Given the description of an element on the screen output the (x, y) to click on. 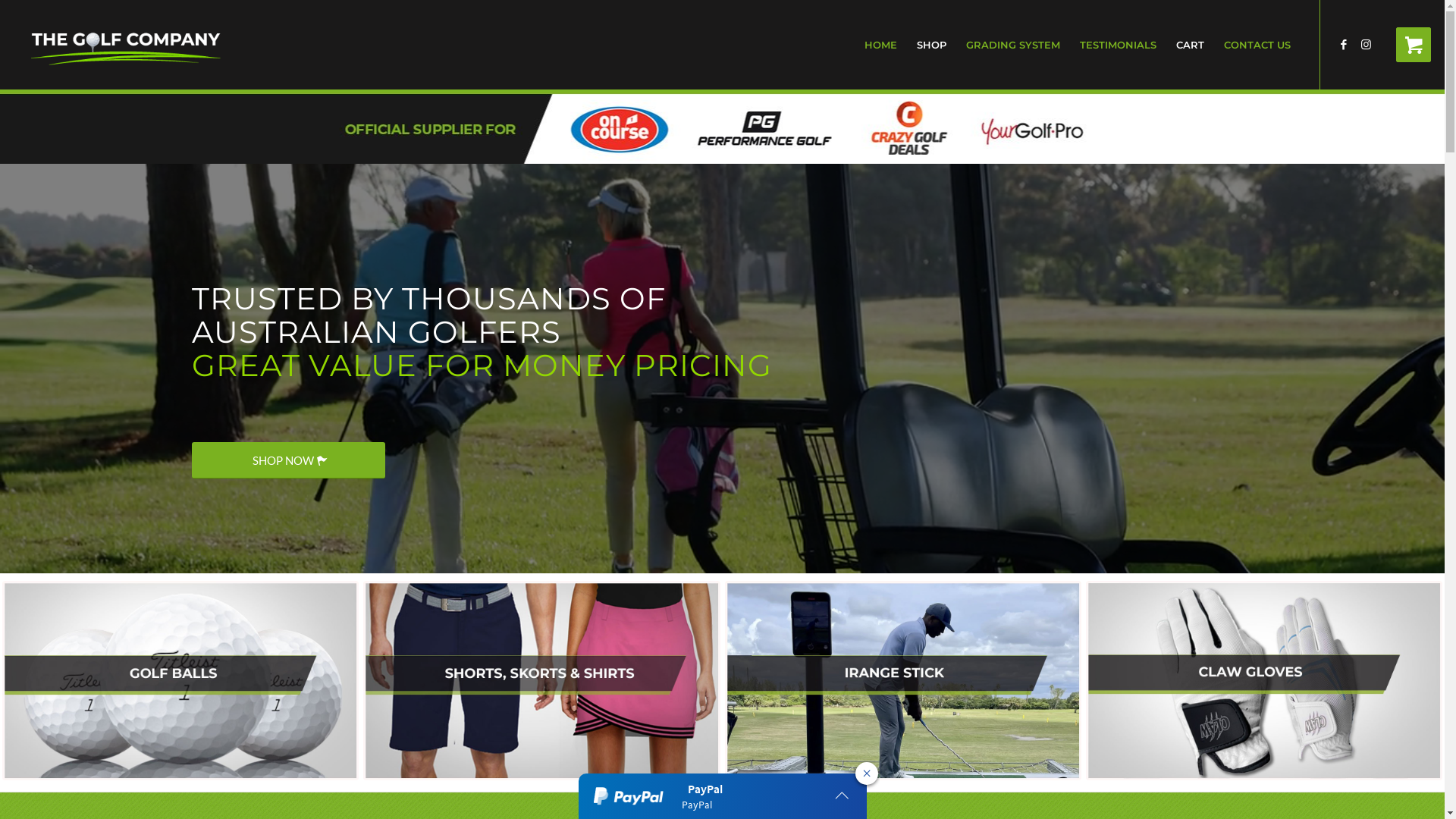
golf-balls-thumb Element type: hover (180, 680)
Facebook Element type: hover (1343, 43)
HOME Element type: text (880, 44)
shorts-thumb Element type: hover (541, 680)
CART Element type: text (1190, 44)
SHOP NOW Element type: text (287, 460)
claw-glove-thumb Element type: hover (1263, 680)
SHOP Element type: text (931, 44)
TESTIMONIALS Element type: text (1118, 44)
GRADING SYSTEM Element type: text (1013, 44)
CONTACT US Element type: text (1257, 44)
irange-thumb Element type: hover (902, 680)
Logo-The-Golf-Company-340 Element type: hover (125, 44)
Instagram Element type: hover (1366, 43)
